Given the description of an element on the screen output the (x, y) to click on. 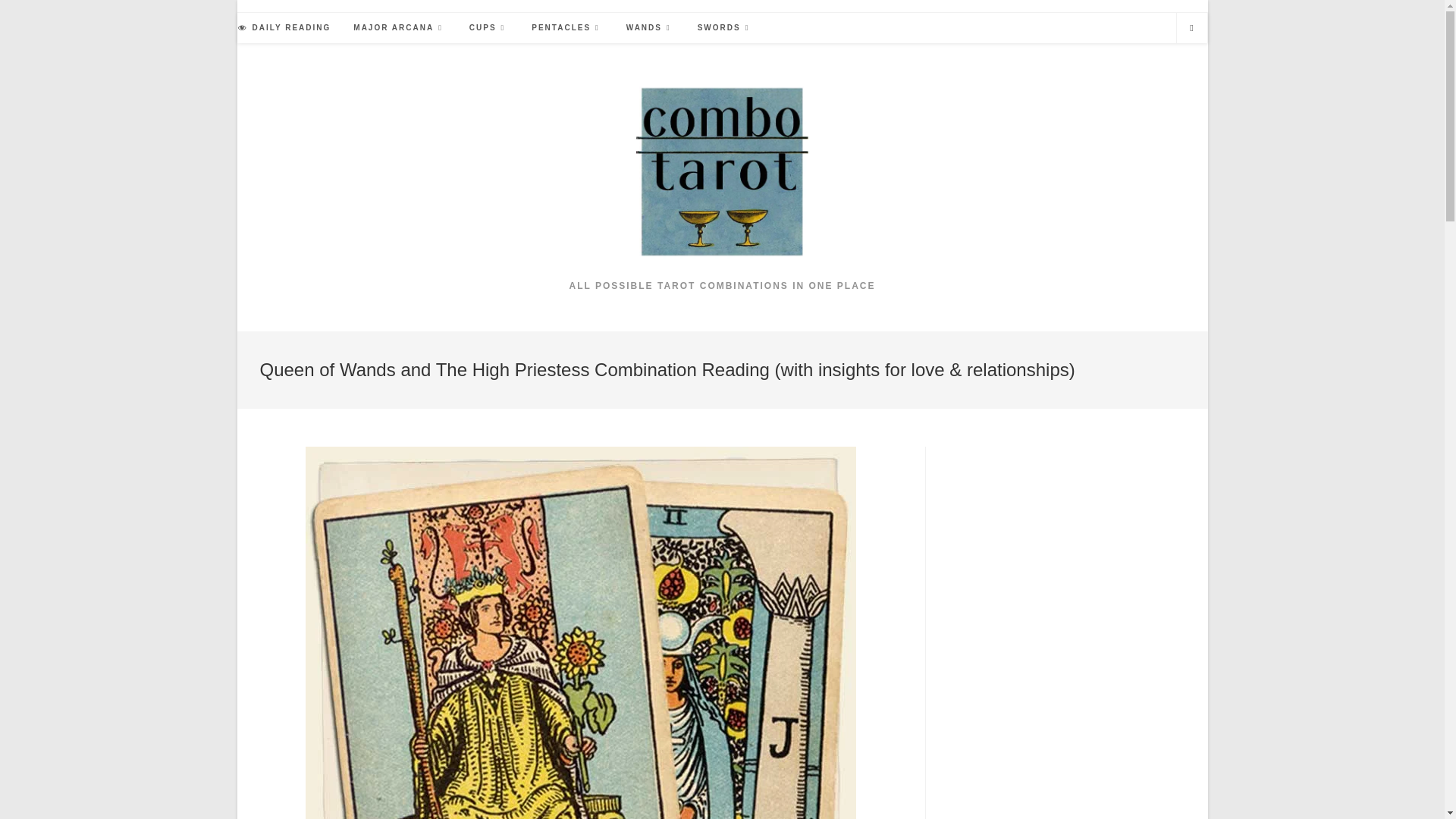
MAJOR ARCANA (400, 28)
DAILY READING (283, 28)
CUPS (488, 28)
